Given the description of an element on the screen output the (x, y) to click on. 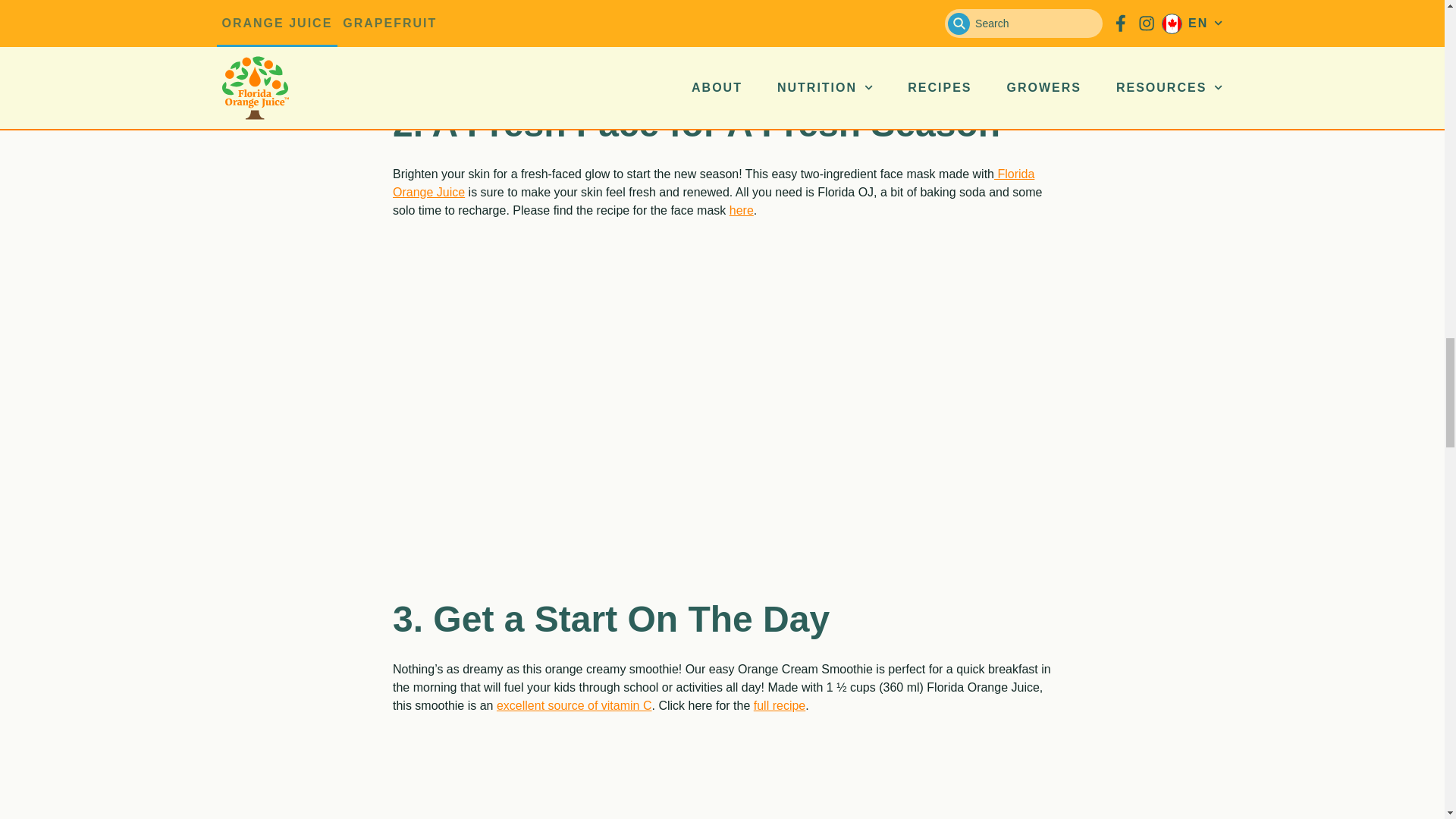
Orange Cream Smoothie (721, 773)
